Given the description of an element on the screen output the (x, y) to click on. 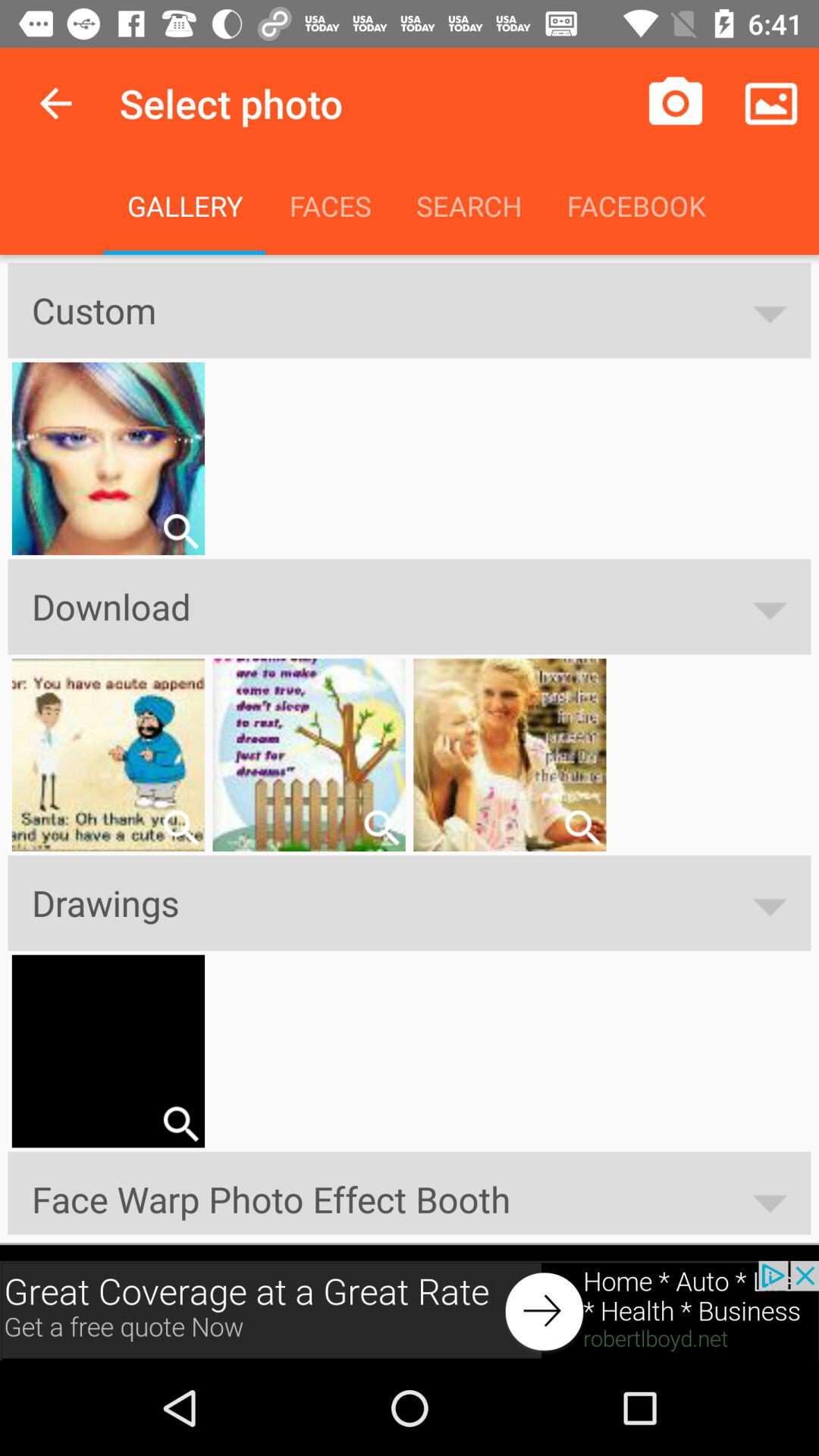
launch advertisement link (409, 1310)
